Given the description of an element on the screen output the (x, y) to click on. 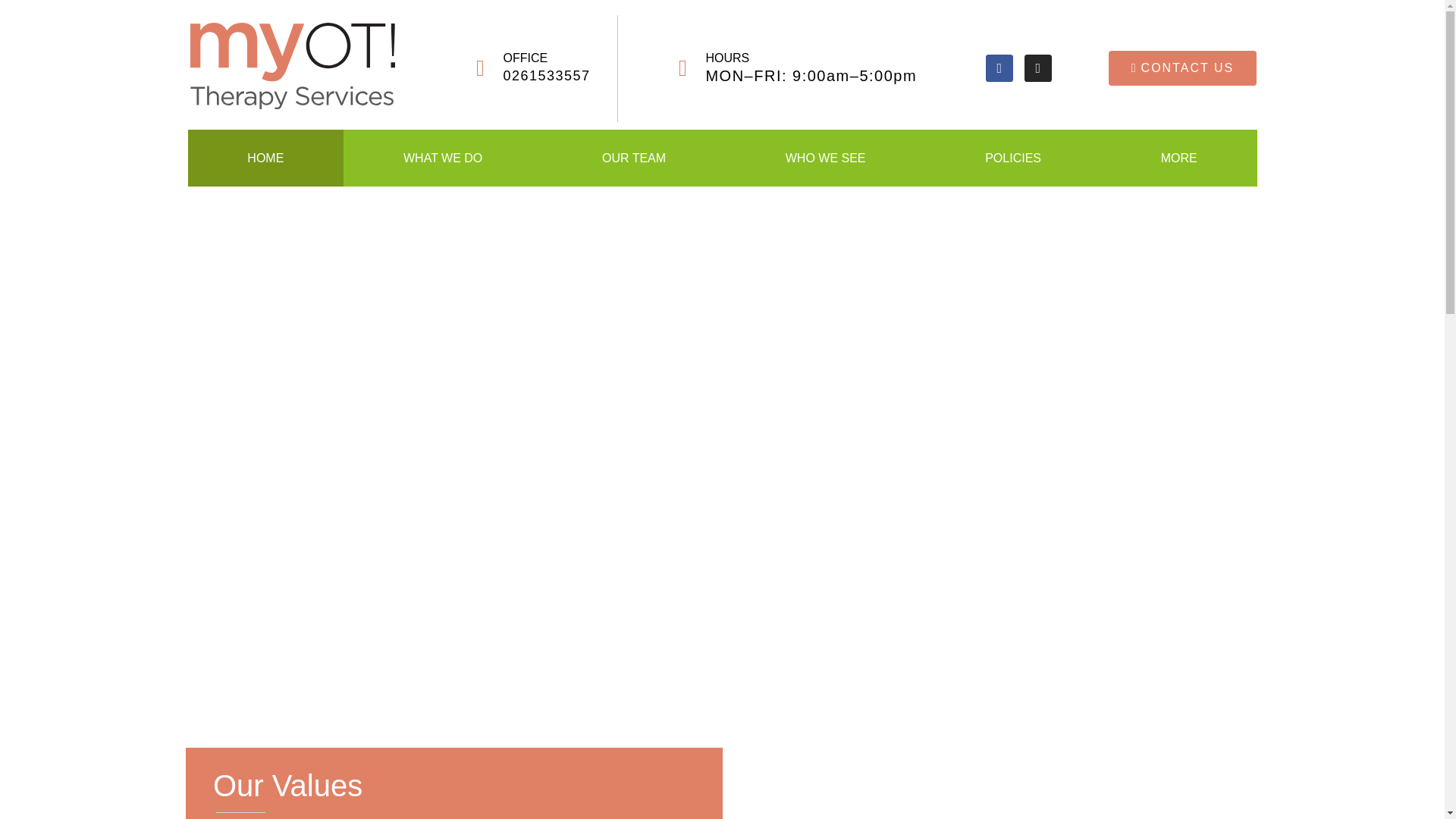
POLICIES Element type: text (1012, 158)
WHAT WE DO Element type: text (442, 158)
WHO WE SEE Element type: text (825, 158)
CONTACT US Element type: text (1182, 67)
OFFICE Element type: text (525, 57)
MORE Element type: text (1179, 158)
OUR TEAM Element type: text (633, 158)
HOME Element type: text (266, 158)
